Given the description of an element on the screen output the (x, y) to click on. 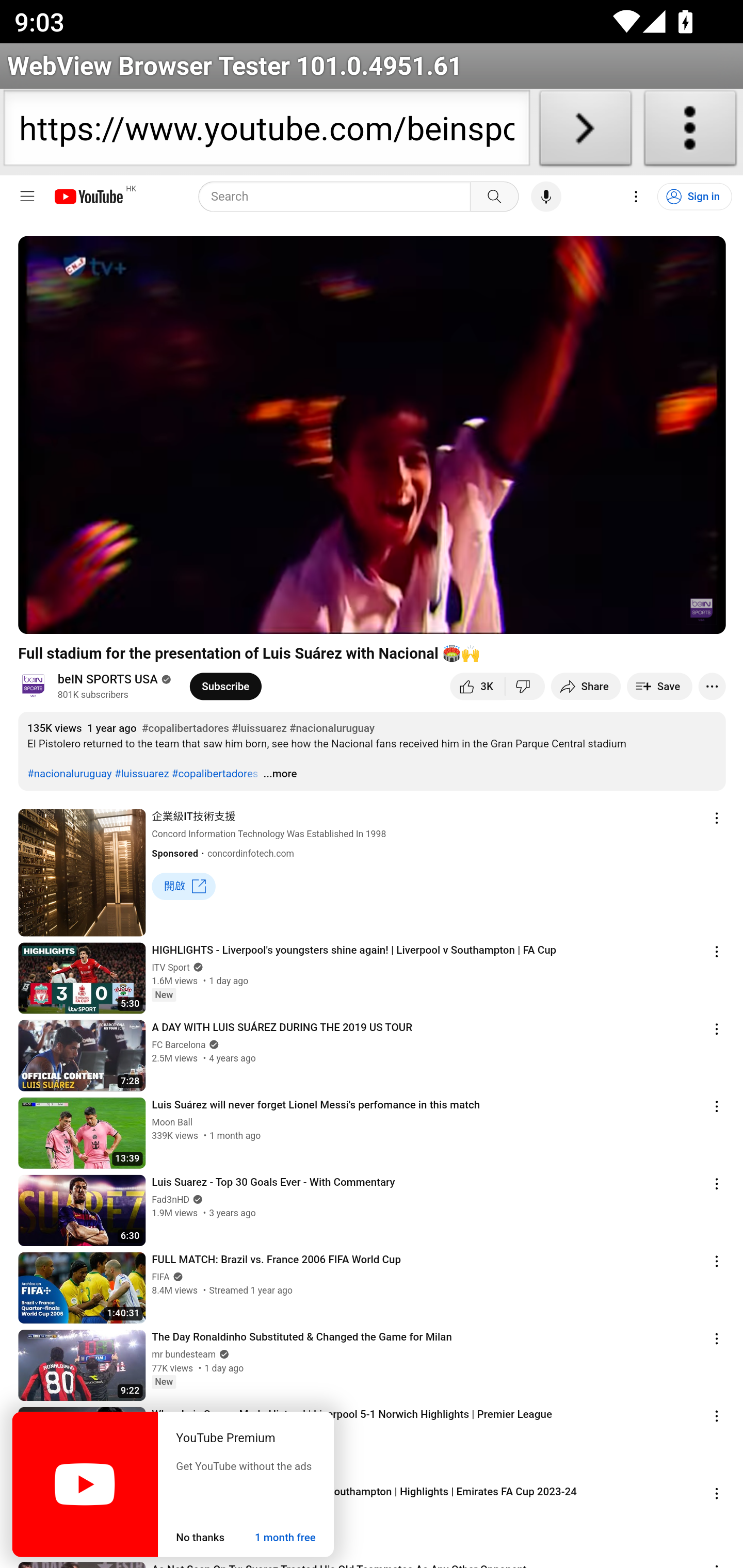
https://www.youtube.com/beinsportsusa (266, 132)
Load URL (585, 132)
About WebView (690, 132)
YouTube Home (88, 196)
Guide (27, 196)
Search (494, 196)
Search with your voice (545, 196)
Settings (635, 196)
Sign in (693, 196)
Channel watermark (701, 609)
@beinsportsusa (37, 685)
beIN SPORTS USA beIN SPORTS USA beIN SPORTS USA (107, 679)
Subscribe to beIN SPORTS USA. (224, 686)
like this video along with 3,012 other people (477, 686)
Dislike this video (524, 686)
Share (585, 686)
Save to playlist (659, 686)
More actions (712, 686)
Verified (164, 678)
#copalibertadores (184, 727)
#luissuarez (259, 727)
#nacionaluruguay (331, 727)
...more (279, 772)
#nacionaluruguay (69, 772)
#luissuarez (141, 772)
#copalibertadores (214, 772)
開啟 (183, 885)
Action menu (716, 950)
ITV Sport (170, 966)
Verified (195, 966)
Action menu (716, 1028)
FC Barcelona (178, 1045)
Verified (212, 1044)
Action menu (716, 1106)
Moon Ball (171, 1121)
Action menu (716, 1183)
Fad3nHD (170, 1198)
Verified (195, 1198)
Action menu (716, 1260)
FIFA (160, 1277)
Verified (176, 1276)
Action menu (716, 1338)
mr bundesteam (183, 1353)
Verified (222, 1353)
Action menu (716, 1415)
Action menu (716, 1492)
No thanks (200, 1538)
No thanks (200, 1538)
1 month free (285, 1538)
1 month free (285, 1538)
